Given the description of an element on the screen output the (x, y) to click on. 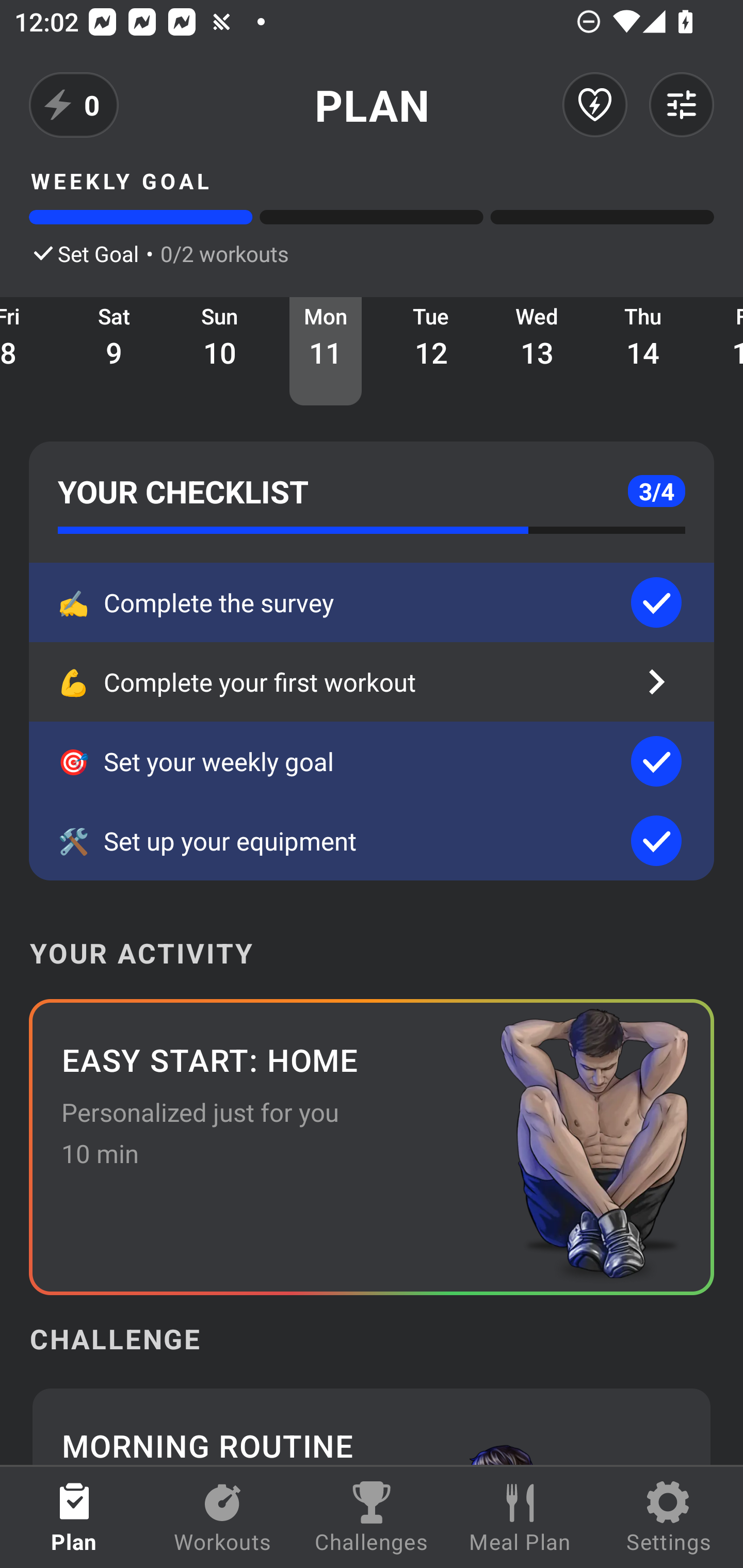
0 (73, 104)
Sat 9 (114, 351)
Sun 10 (219, 351)
Mon 11 (325, 351)
Tue 12 (431, 351)
Wed 13 (536, 351)
Thu 14 (642, 351)
💪 Complete your first workout (371, 681)
EASY START: HOME Personalized just for you 10 min (371, 1146)
MORNING ROUTINE (371, 1424)
 Workouts  (222, 1517)
 Challenges  (371, 1517)
 Meal Plan  (519, 1517)
 Settings  (668, 1517)
